Given the description of an element on the screen output the (x, y) to click on. 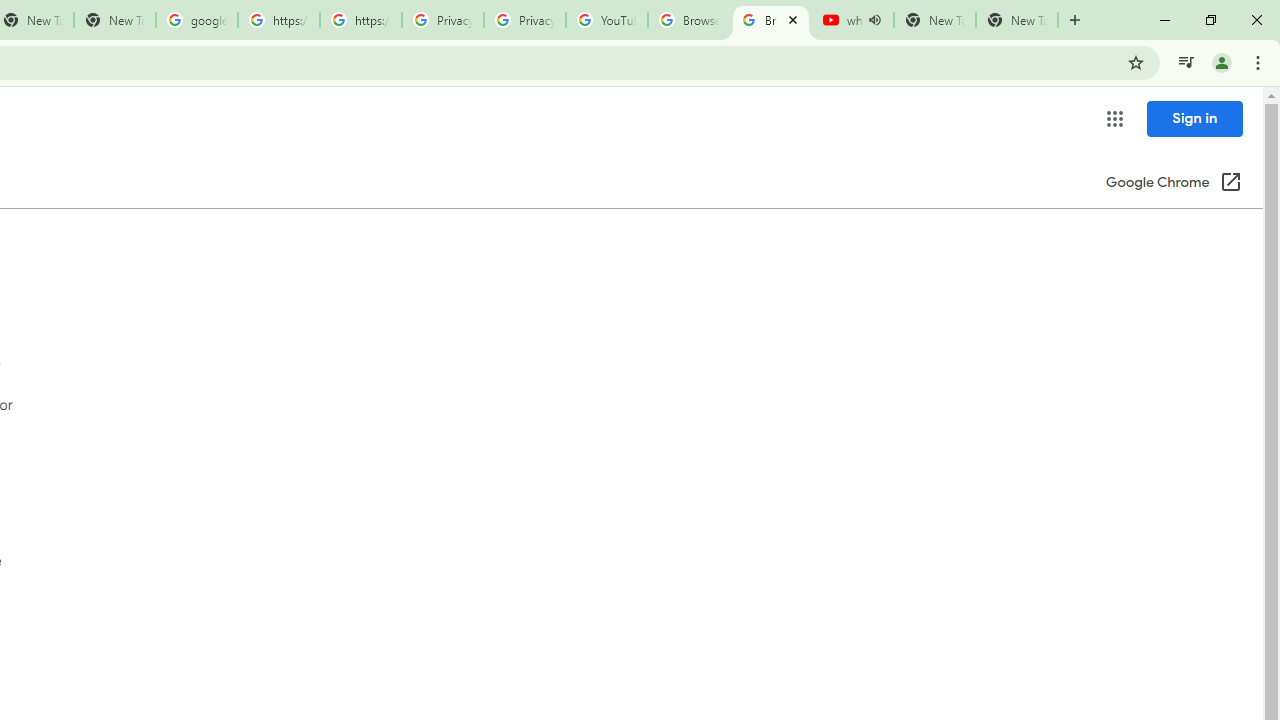
https://scholar.google.com/ (278, 20)
Google Chrome (Open in a new window) (1173, 183)
https://scholar.google.com/ (360, 20)
Browse Chrome as a guest - Computer - Google Chrome Help (688, 20)
Browse Chrome as a guest - Android - Google Chrome Help (770, 20)
